Given the description of an element on the screen output the (x, y) to click on. 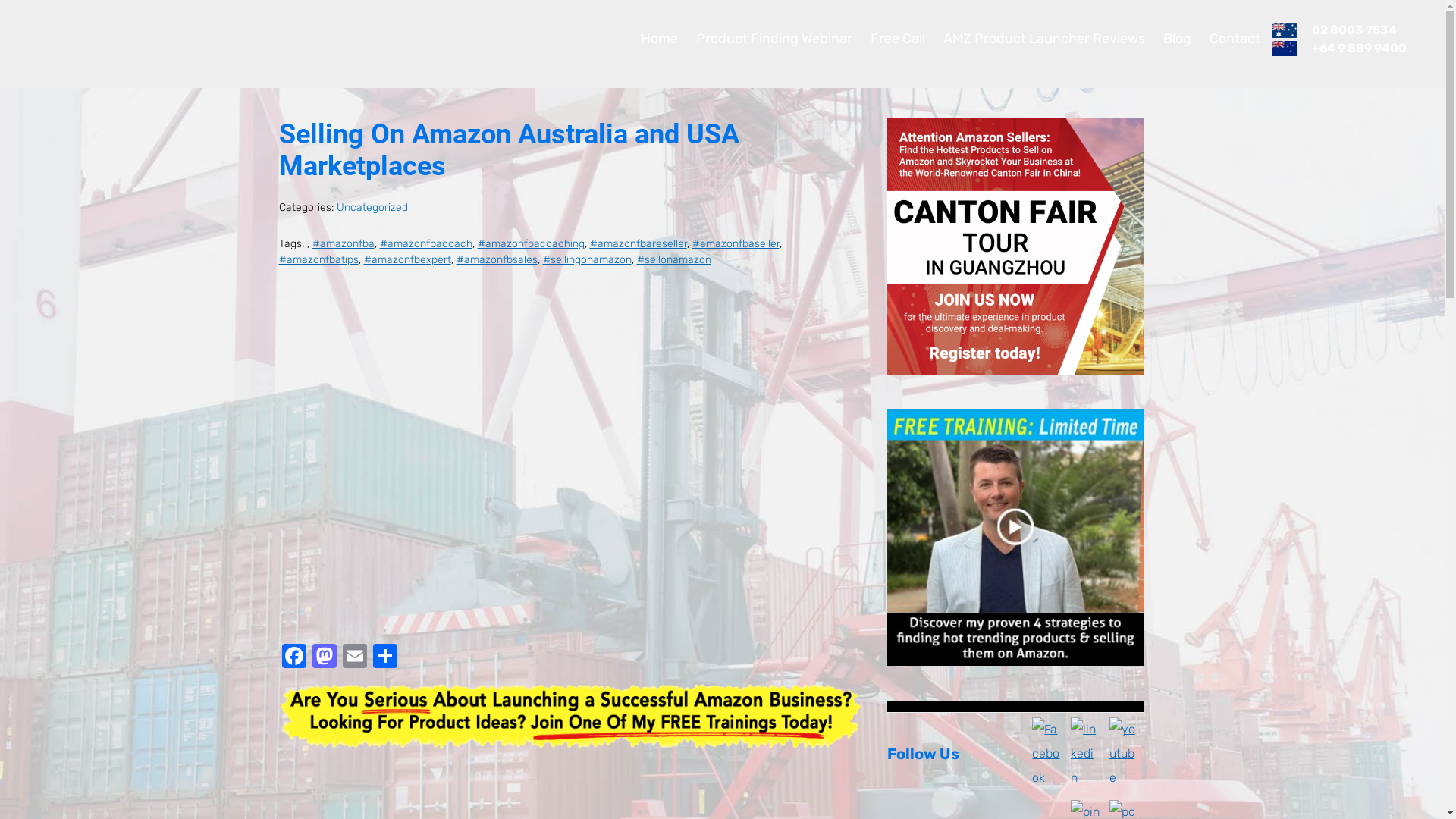
#amazonfbareseller Element type: text (638, 243)
Email Element type: text (354, 657)
Blog Element type: text (1177, 38)
#amazonfbexpert Element type: text (407, 259)
Facebook Element type: text (294, 657)
#amazonfbatips Element type: text (318, 259)
02 8003 7534 Element type: text (1353, 29)
Contact Element type: text (1234, 38)
#sellonamazon Element type: text (674, 259)
Free Call Element type: text (897, 38)
#sellingonamazon Element type: text (586, 259)
Import Export Coaching Element type: text (98, 37)
Home Element type: text (659, 38)
Share Element type: text (385, 657)
+64 9 889 9400 Element type: text (1358, 47)
#amazonfbaseller Element type: text (734, 243)
Selling On Amazon Australia and USA Marketplaces Element type: text (509, 150)
#amazonfba Element type: text (343, 243)
Skip to content Element type: text (0, 0)
Product Finding Webinar Element type: text (774, 38)
AMZ Product Launcher Reviews Element type: text (1043, 38)
#amazonfbacoaching Element type: text (530, 243)
Uncategorized Element type: text (371, 206)
#amazonfbacoach Element type: text (425, 243)
Mastodon Element type: text (324, 657)
#amazonfbsales Element type: text (496, 259)
